Given the description of an element on the screen output the (x, y) to click on. 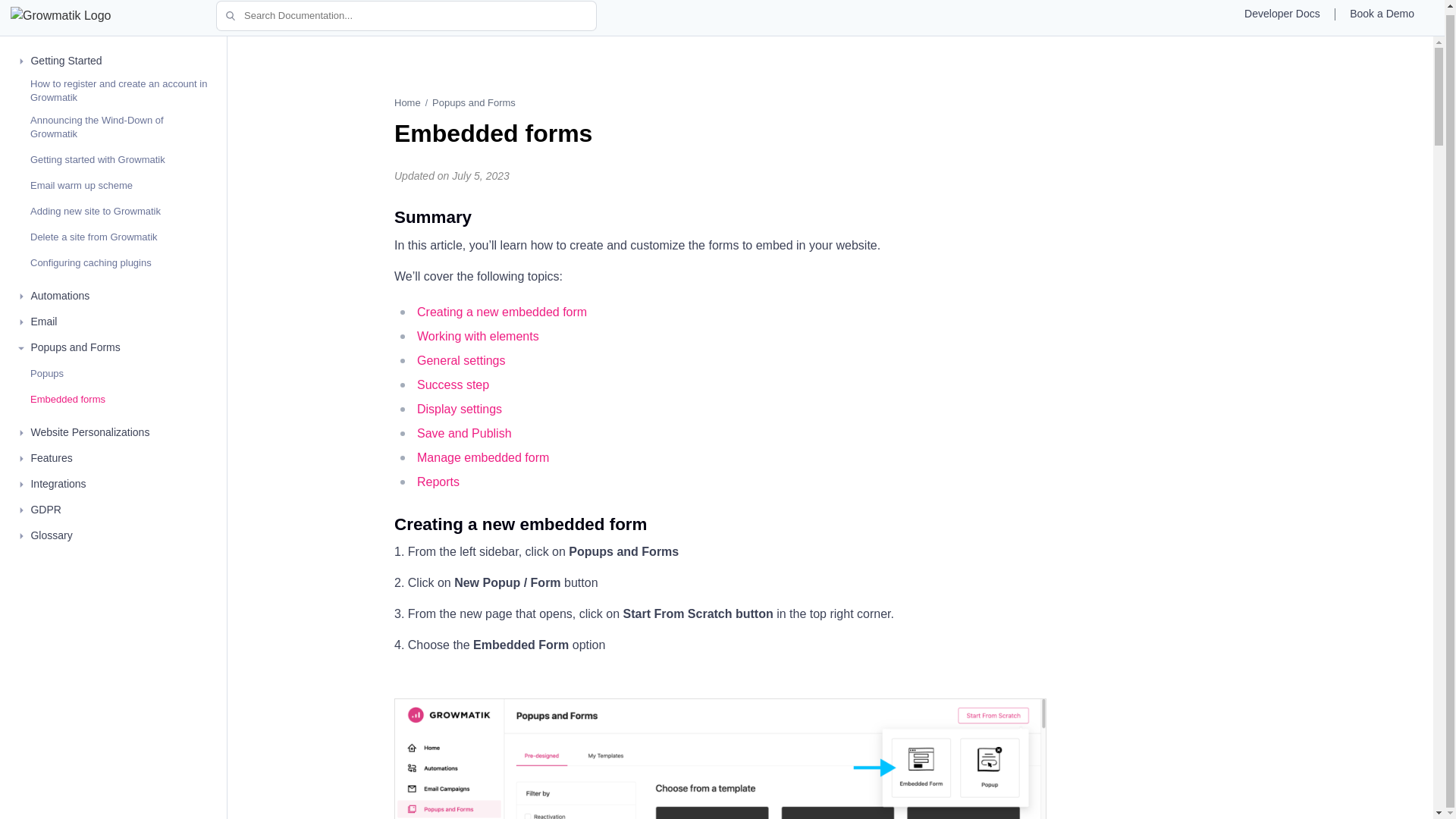
Popups and Forms (74, 346)
Delete a site from Growmatik (93, 237)
Developer Docs (1282, 15)
Configuring caching plugins (90, 263)
Email warm up scheme (81, 185)
Announcing the Wind-Down of Growmatik (120, 126)
Getting Started (65, 60)
Book a Demo (1381, 15)
Popups (47, 373)
How to register and create an account in Growmatik (120, 90)
